Given the description of an element on the screen output the (x, y) to click on. 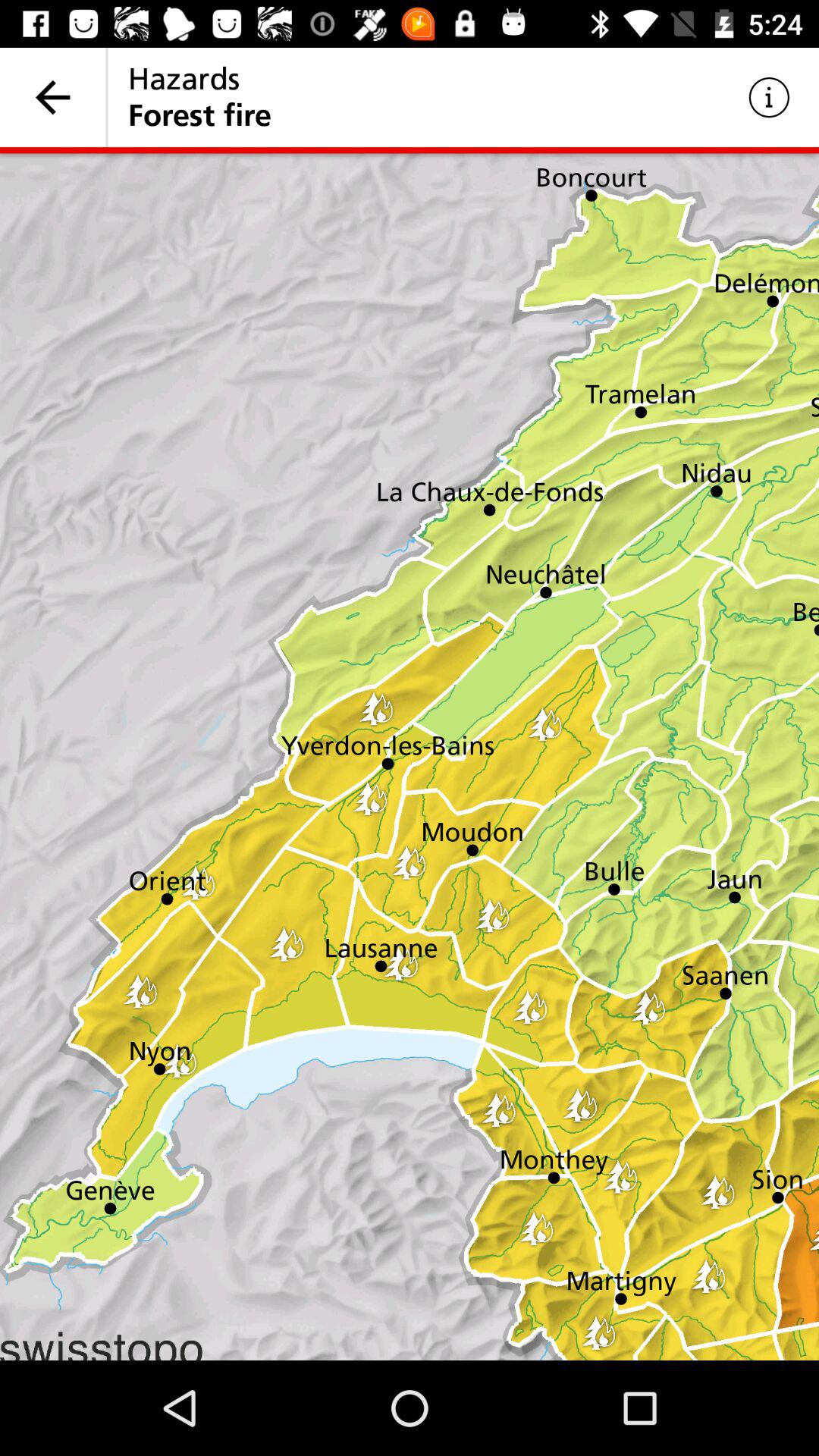
press icon to the right of hazards item (769, 97)
